Given the description of an element on the screen output the (x, y) to click on. 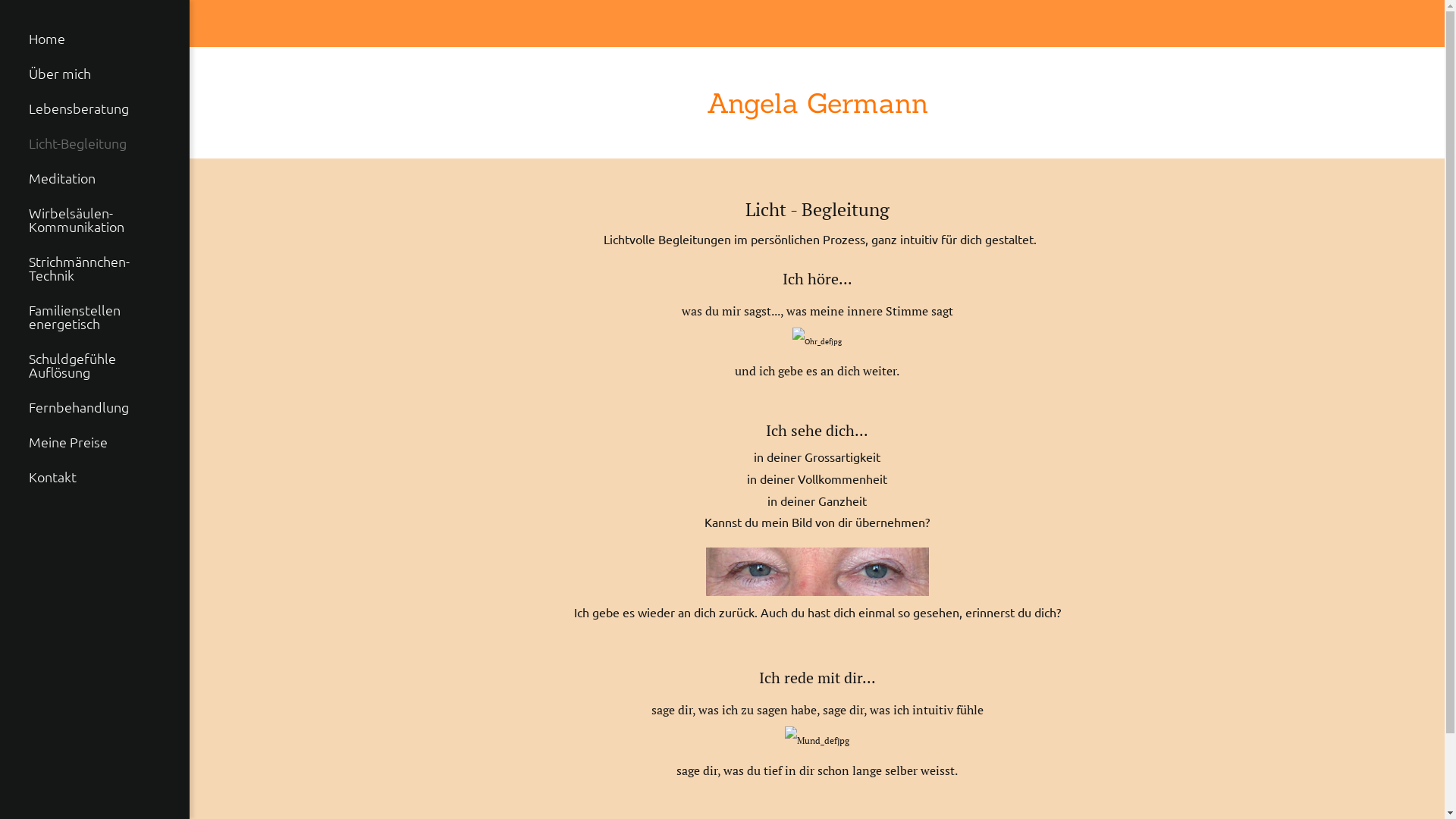
Home Element type: text (94, 38)
Familienstellen energetisch Element type: text (94, 316)
Angela Germann Element type: text (817, 102)
Lebensberatung Element type: text (94, 108)
Meditation Element type: text (94, 177)
Meine Preise Element type: text (94, 441)
Fernbehandlung Element type: text (94, 406)
Kontakt Element type: text (94, 476)
Licht-Begleitung Element type: text (94, 142)
